Given the description of an element on the screen output the (x, y) to click on. 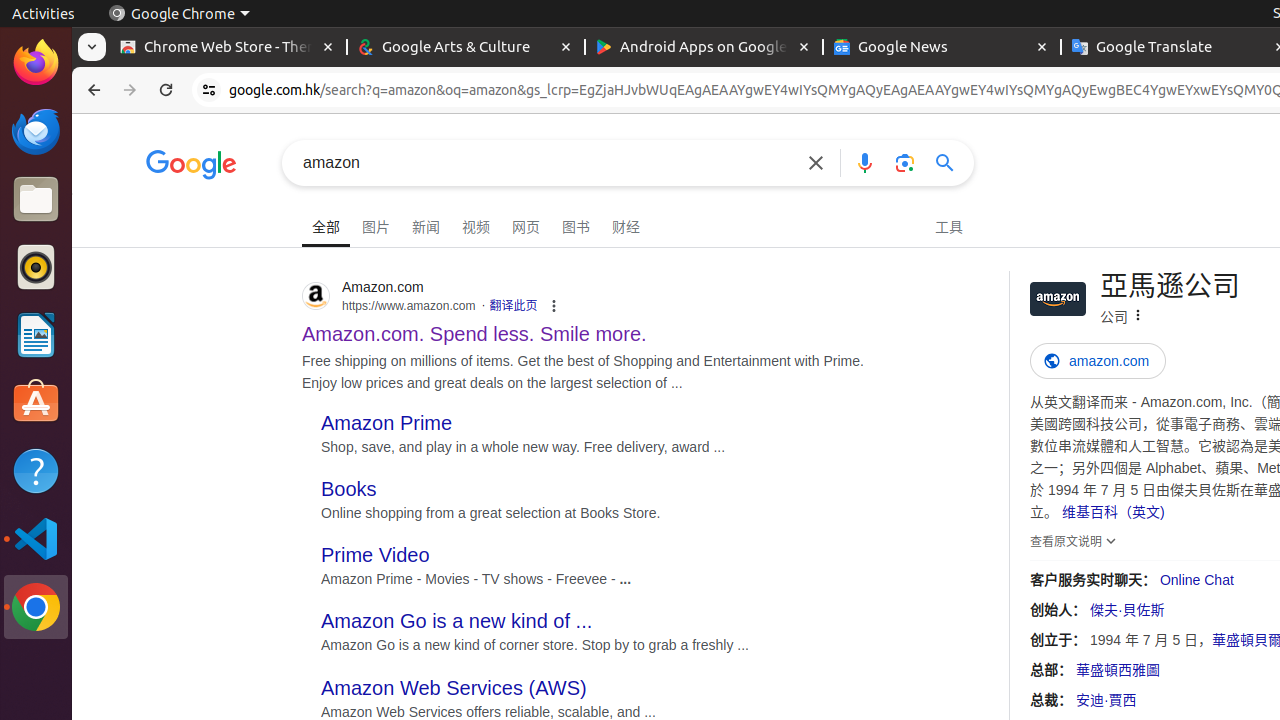
Google Chrome Element type: menu (179, 13)
Thunderbird Mail Element type: push-button (36, 131)
财经 Element type: link (626, 224)
Prime Video Element type: link (375, 555)
Forward Element type: push-button (130, 90)
